Given the description of an element on the screen output the (x, y) to click on. 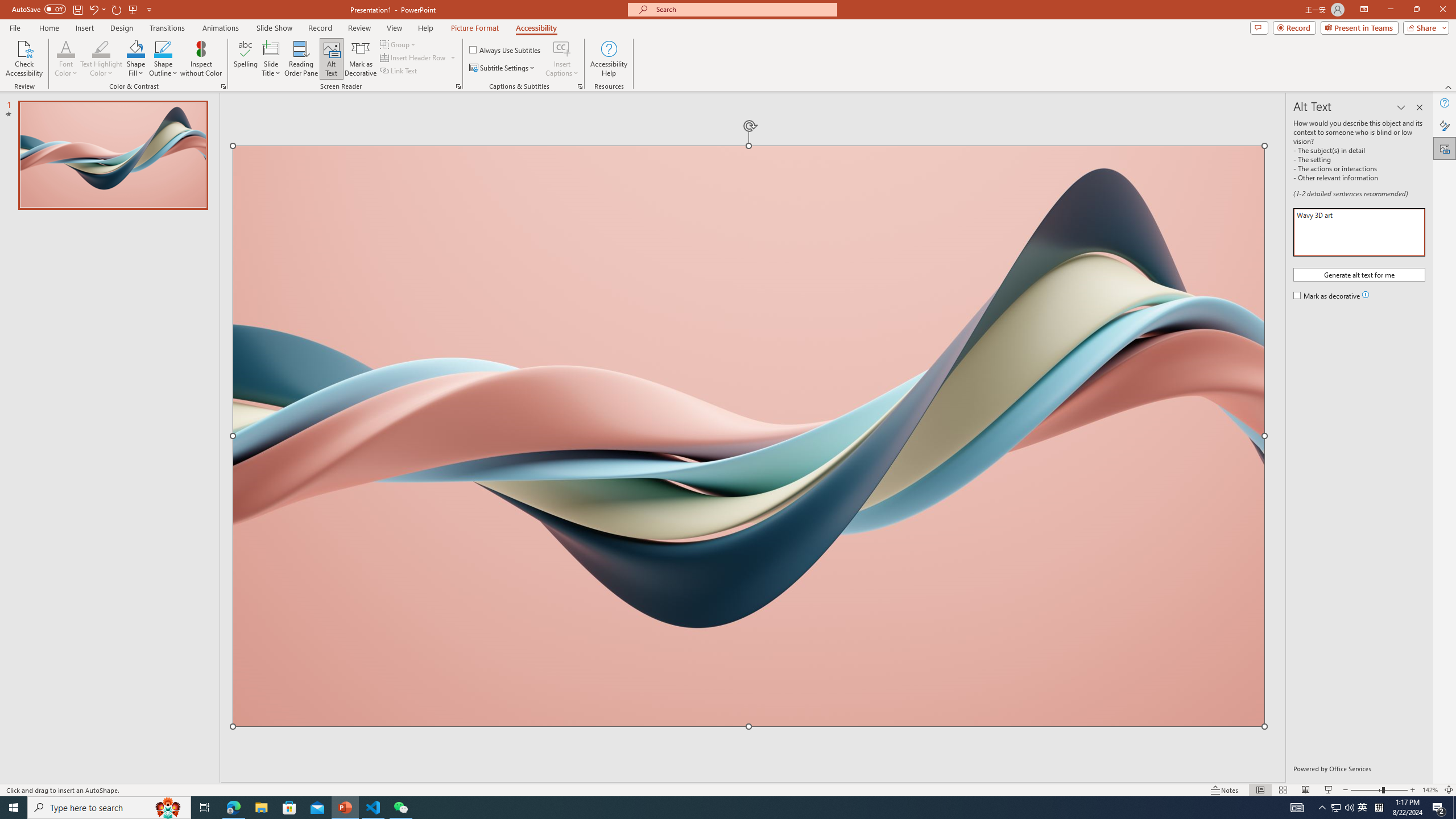
Picture Format (475, 28)
